Given the description of an element on the screen output the (x, y) to click on. 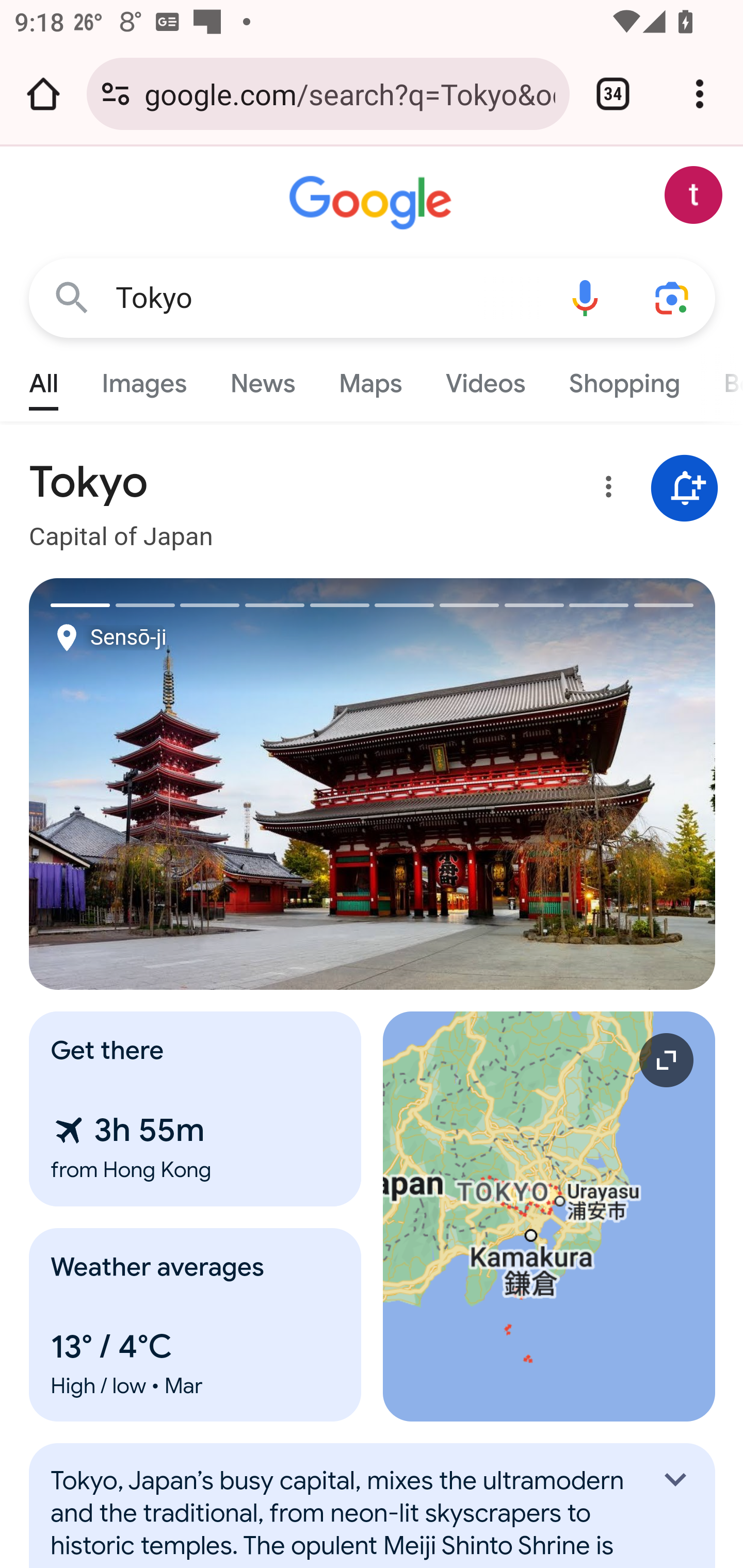
Open the home page (43, 93)
Connection is secure (115, 93)
Switch or close tabs (612, 93)
Customize and control Google Chrome (699, 93)
Google (372, 203)
Google Search (71, 296)
Search using your camera or photos (672, 296)
Tokyo (328, 297)
Images (144, 378)
News (262, 378)
Maps (369, 378)
Videos (485, 378)
Shopping (623, 378)
Get notifications about Tokyo (684, 489)
More options (605, 489)
Previous image (200, 783)
Next image (544, 783)
Expand map (549, 1216)
Weather averages 13° / 4°C High / low • Mar (195, 1324)
